Given the description of an element on the screen output the (x, y) to click on. 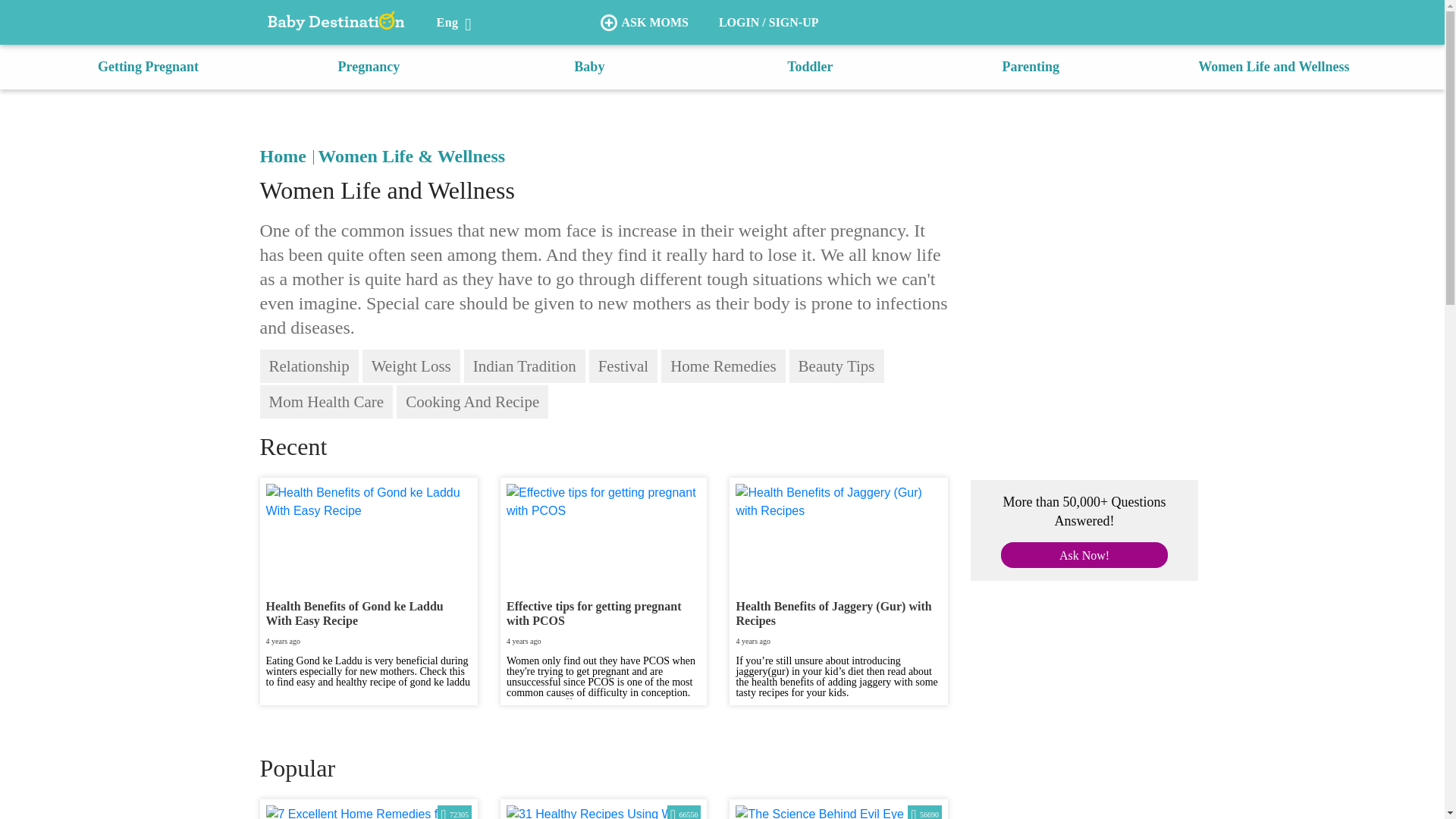
ASK MOMS (644, 22)
Baby (588, 66)
Getting Pregnant (147, 66)
Toddler (810, 66)
Pregnancy (368, 66)
